Given the description of an element on the screen output the (x, y) to click on. 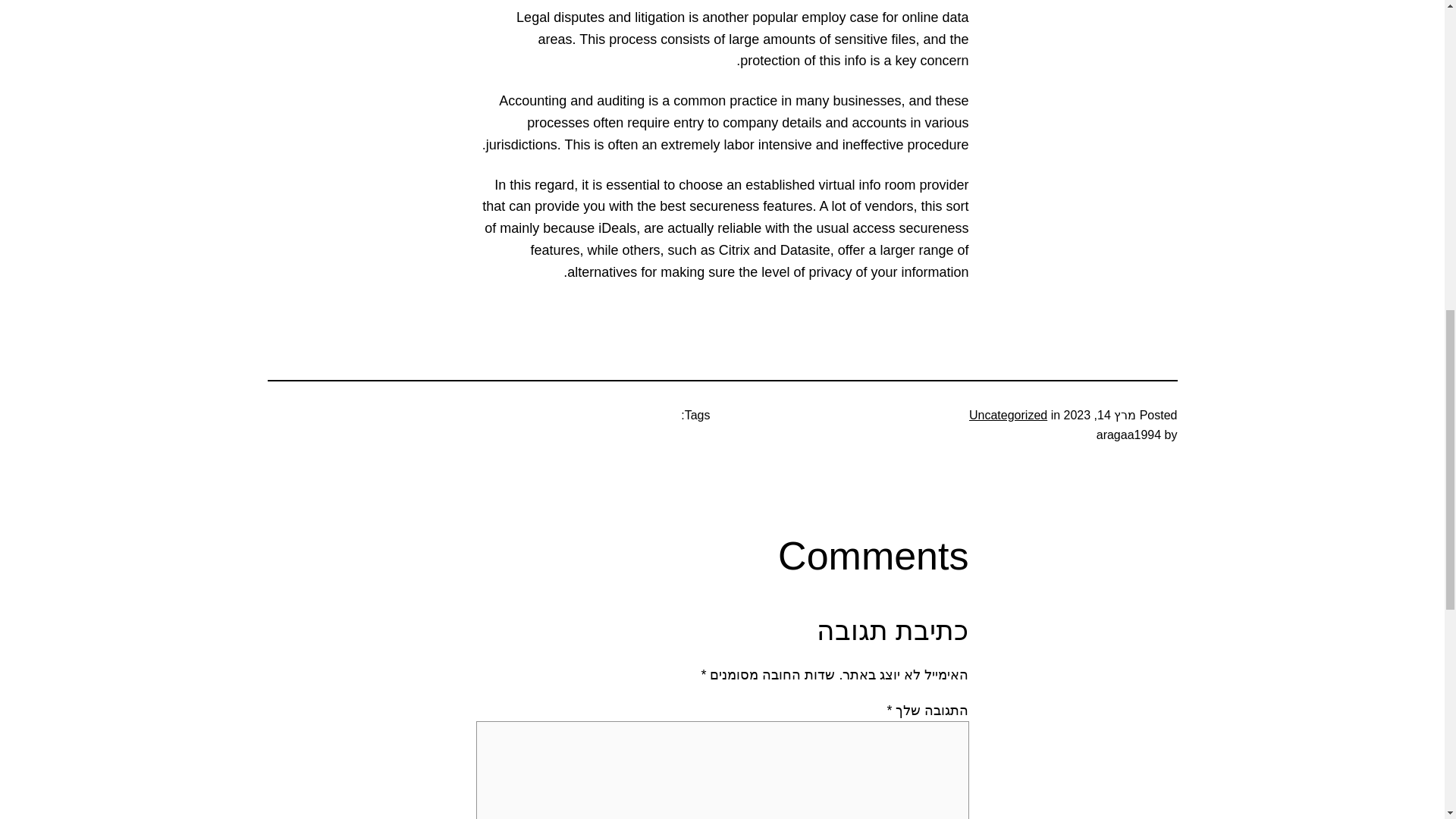
Uncategorized (1007, 414)
